Given the description of an element on the screen output the (x, y) to click on. 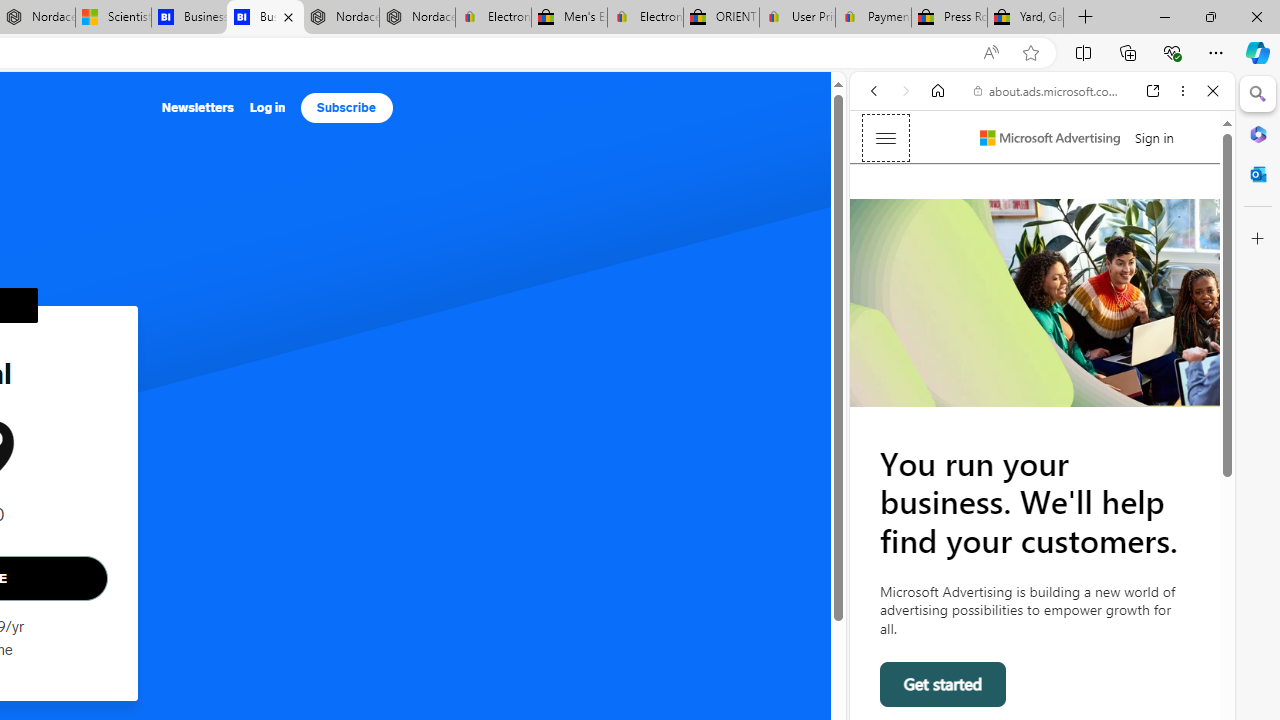
Log in (267, 107)
Subscribe (345, 107)
Minimize Search pane (1258, 94)
